Given the description of an element on the screen output the (x, y) to click on. 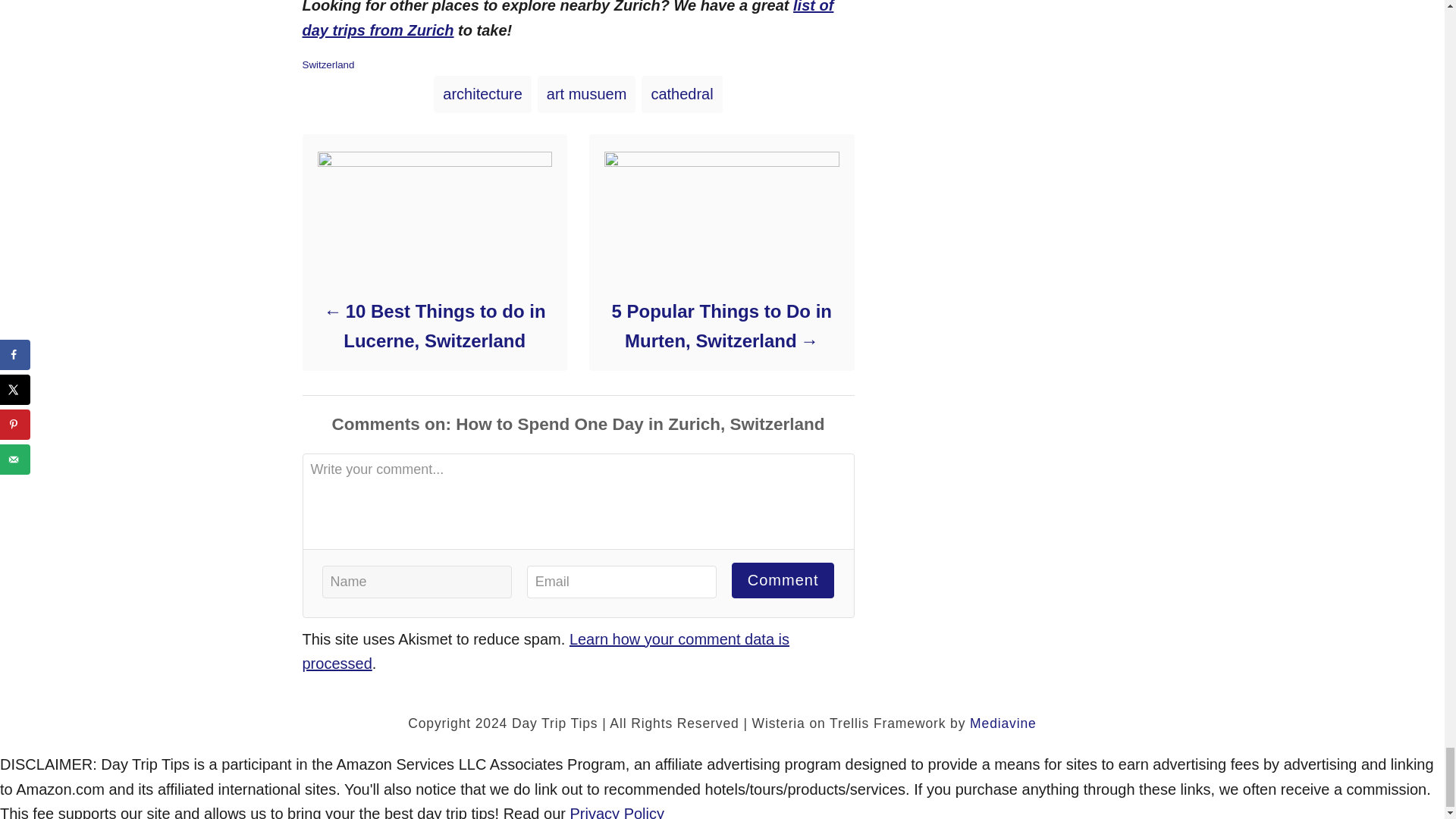
list of day trips from Zurich (566, 19)
art musuem (586, 94)
5 Popular Things to Do in Murten, Switzerland (721, 325)
Learn how your comment data is processed (545, 651)
cathedral (682, 94)
10 Best Things to do in Lucerne, Switzerland (434, 325)
Comment (783, 580)
architecture (482, 94)
Switzerland (327, 64)
Mediavine (1002, 723)
